Given the description of an element on the screen output the (x, y) to click on. 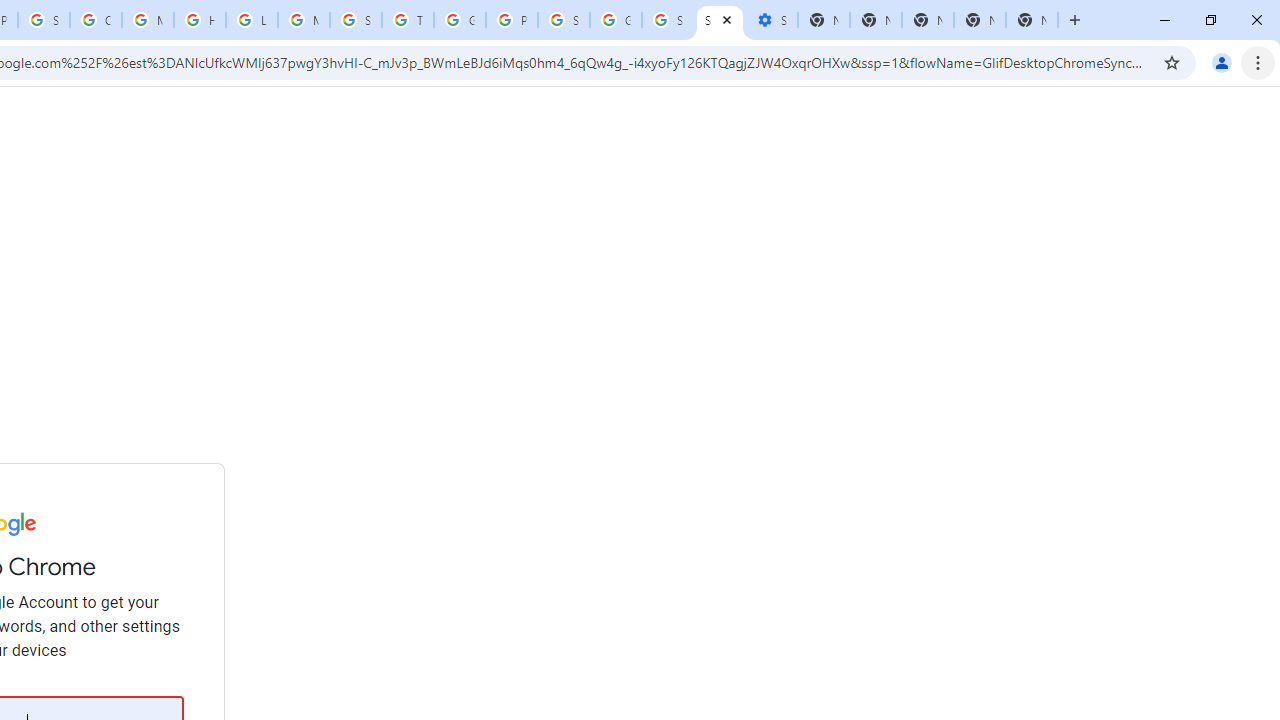
Sign in - Google Accounts (719, 20)
Search our Doodle Library Collection - Google Doodles (355, 20)
New Tab (1032, 20)
Sign in - Google Accounts (667, 20)
